Given the description of an element on the screen output the (x, y) to click on. 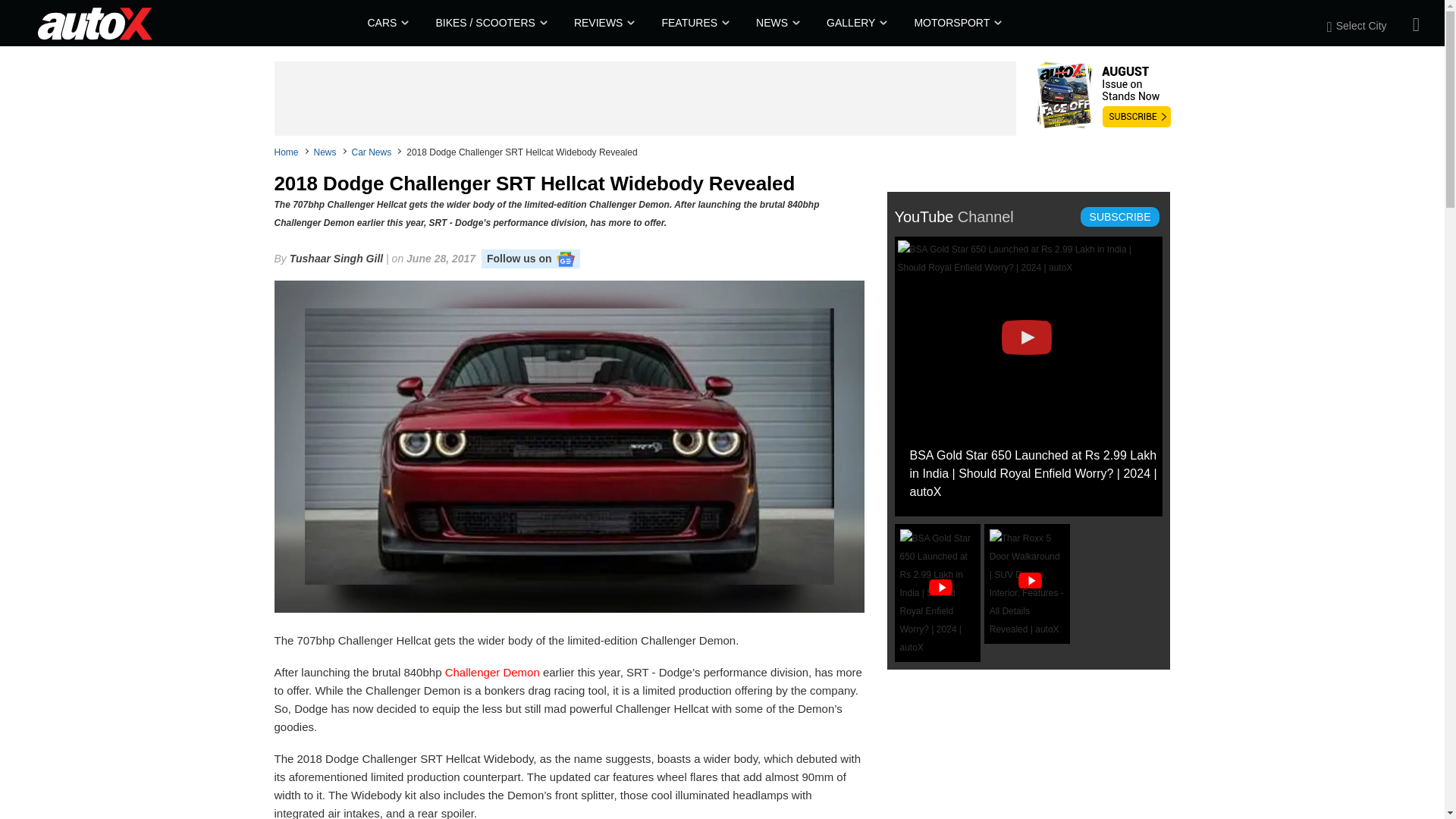
CARS (386, 22)
REVIEWS (601, 22)
Select City (1364, 25)
